Given the description of an element on the screen output the (x, y) to click on. 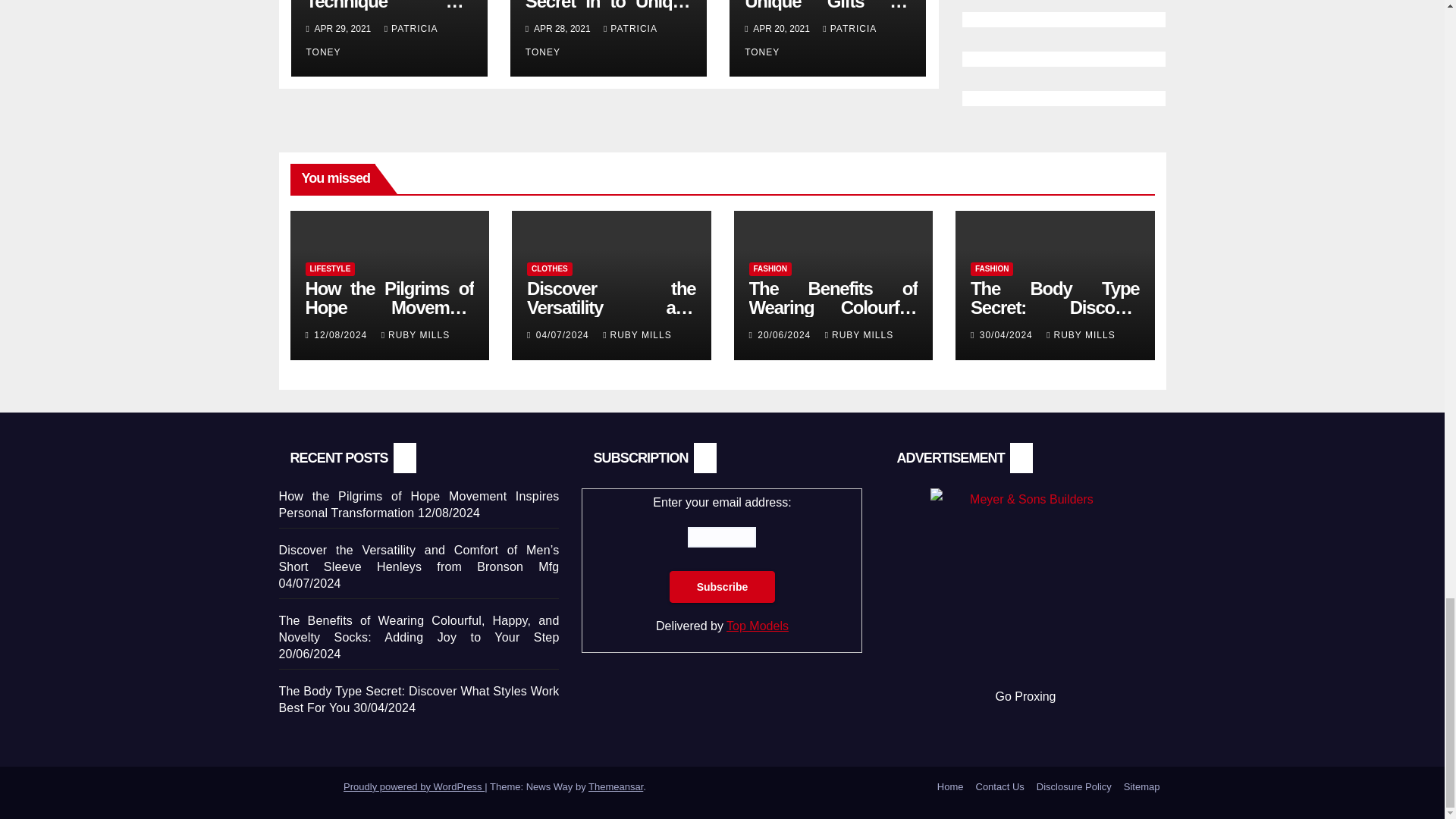
PATRICIA TONEY (371, 40)
Permalink to: The Ultimate Technique For Unique Gifts (388, 15)
Subscribe (722, 586)
The Mysterious Secret In to Unique Gifts Uncovered (608, 15)
The Ultimate Technique For Unique Gifts (388, 15)
